Given the description of an element on the screen output the (x, y) to click on. 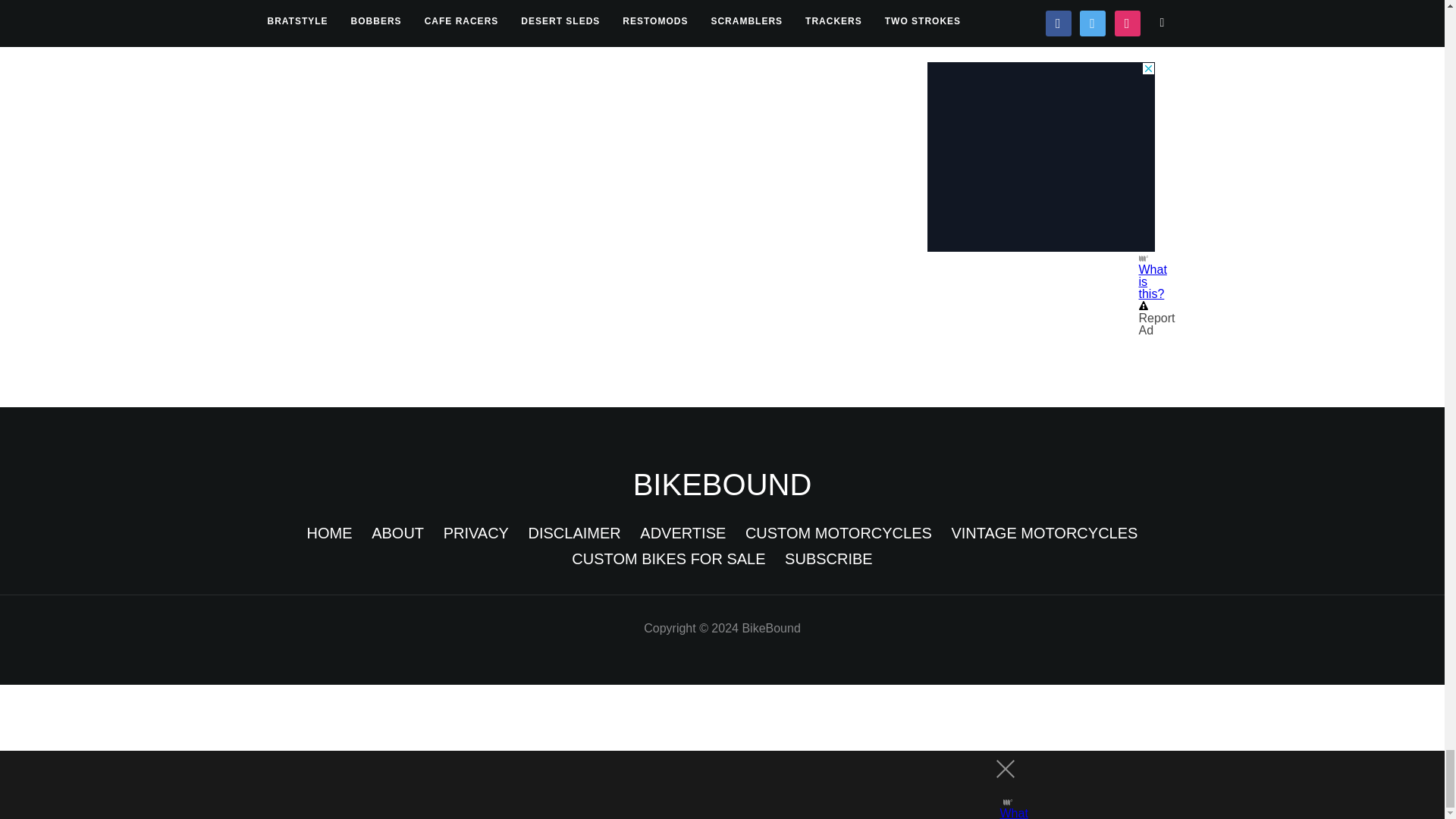
Cafe Racers, Scramblers, Trackers, and Bratstyle (722, 484)
